Given the description of an element on the screen output the (x, y) to click on. 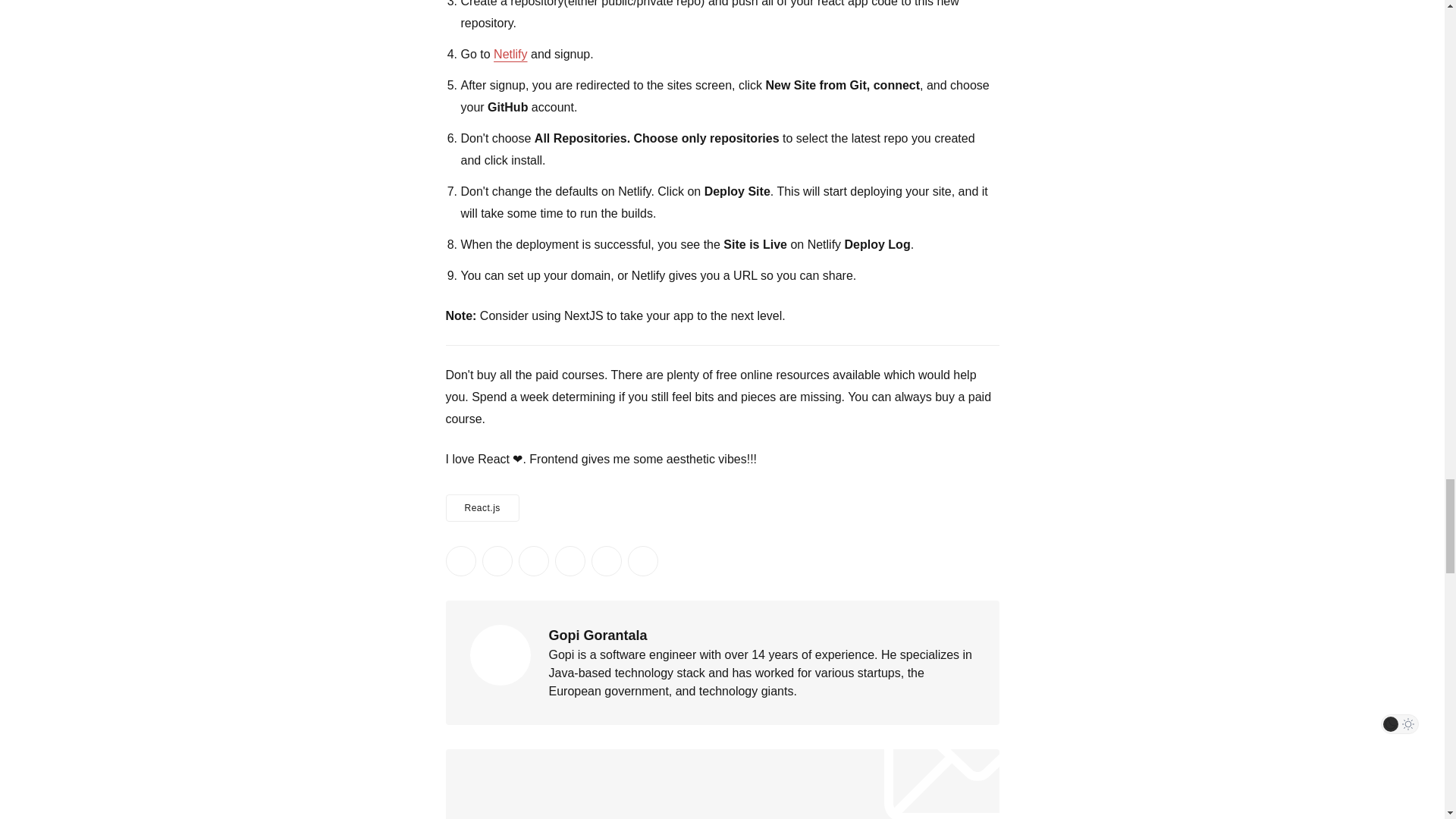
Share on LinkedIn (533, 561)
Share via Email (606, 561)
Netlify (510, 53)
Share on Twitter (460, 561)
Share on Pinterest (569, 561)
Share on Facebook (496, 561)
React.js (482, 507)
Gopi Gorantala (597, 635)
Copy link (642, 561)
